Given the description of an element on the screen output the (x, y) to click on. 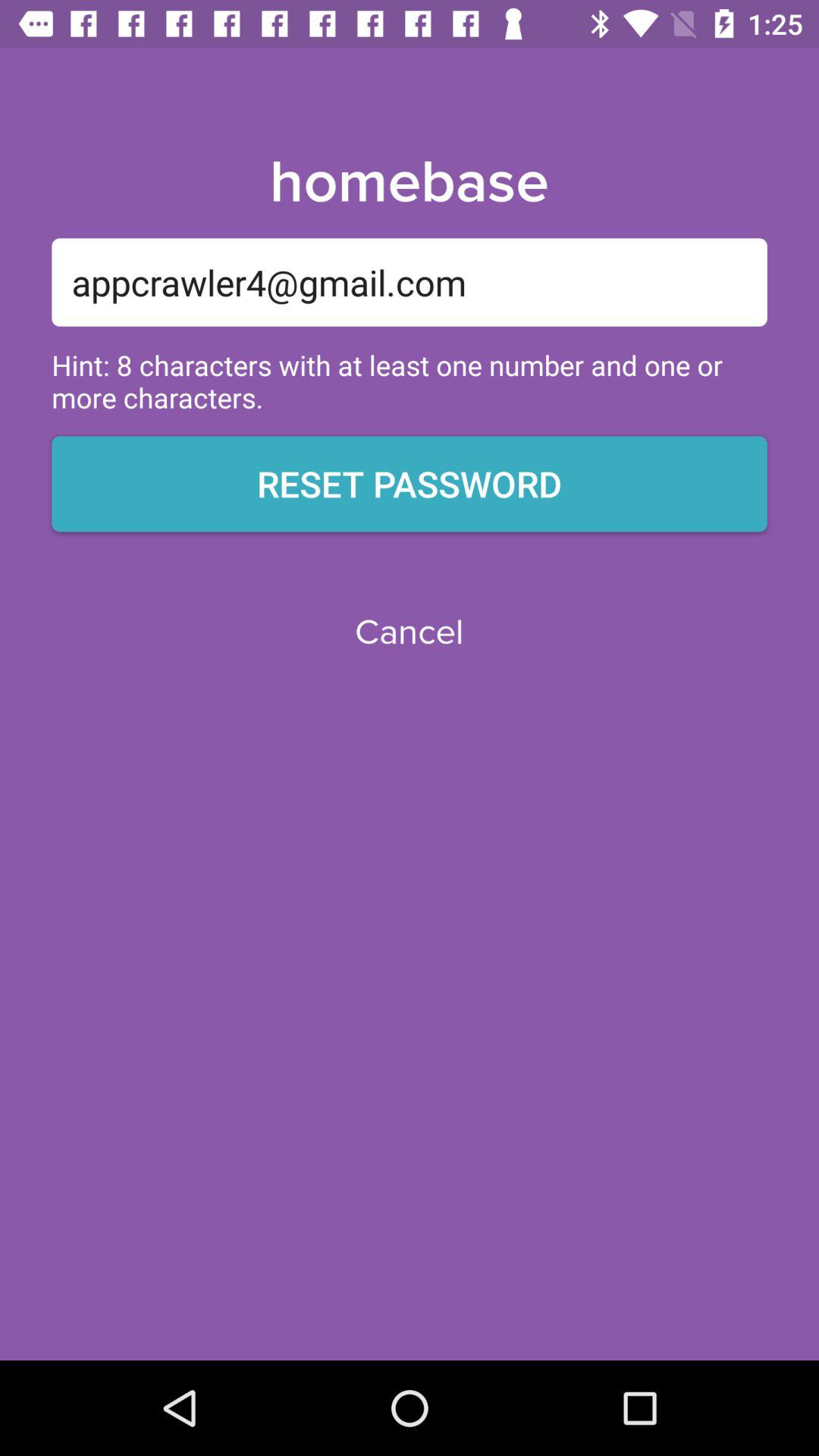
jump to the cancel icon (408, 632)
